Given the description of an element on the screen output the (x, y) to click on. 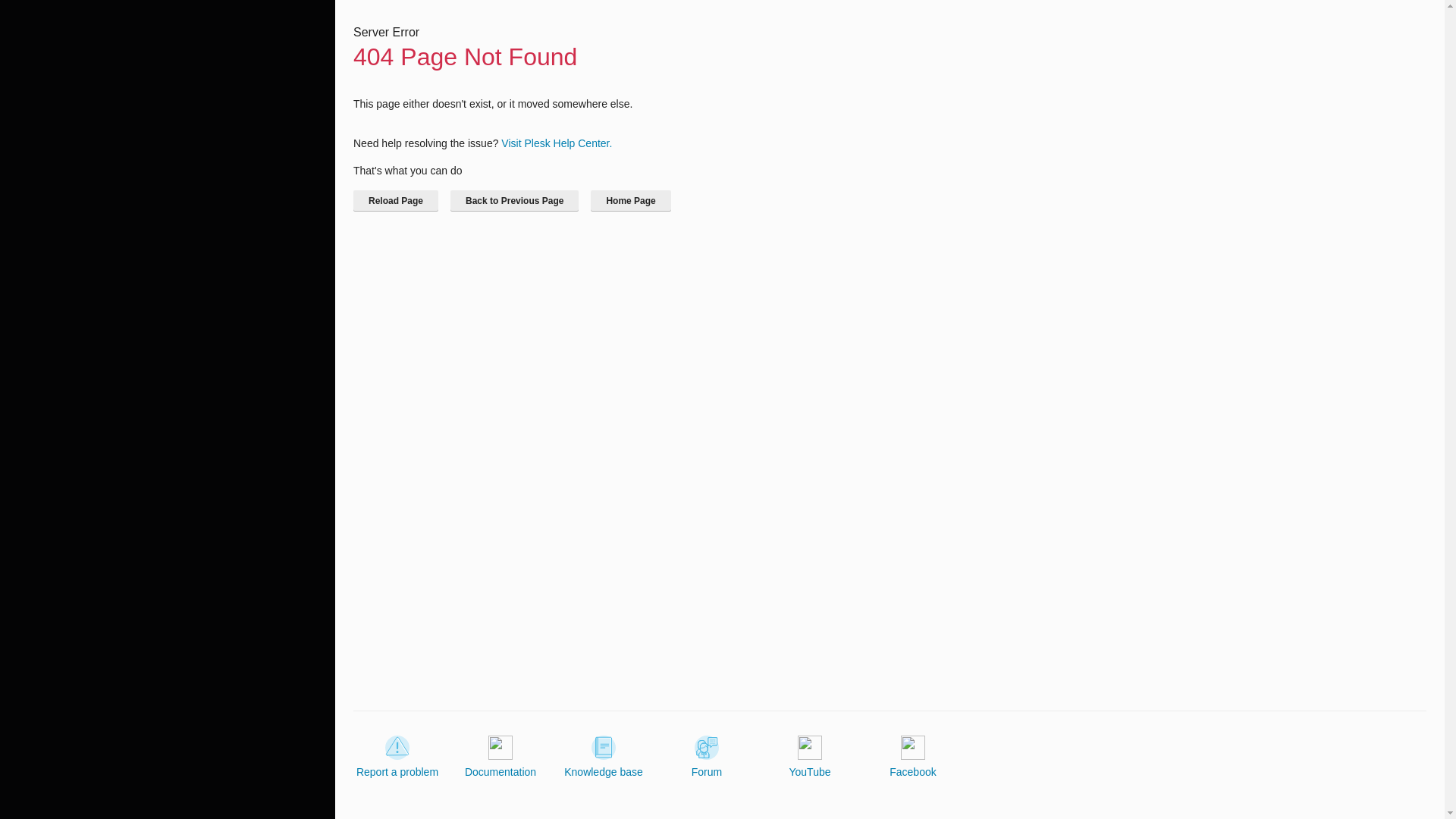
Reload Page (395, 200)
Report a problem (397, 757)
Facebook (912, 757)
Back to Previous Page (513, 200)
Knowledge base (603, 757)
Home Page (630, 200)
Visit Plesk Help Center. (555, 143)
Forum (706, 757)
YouTube (809, 757)
Documentation (500, 757)
